Given the description of an element on the screen output the (x, y) to click on. 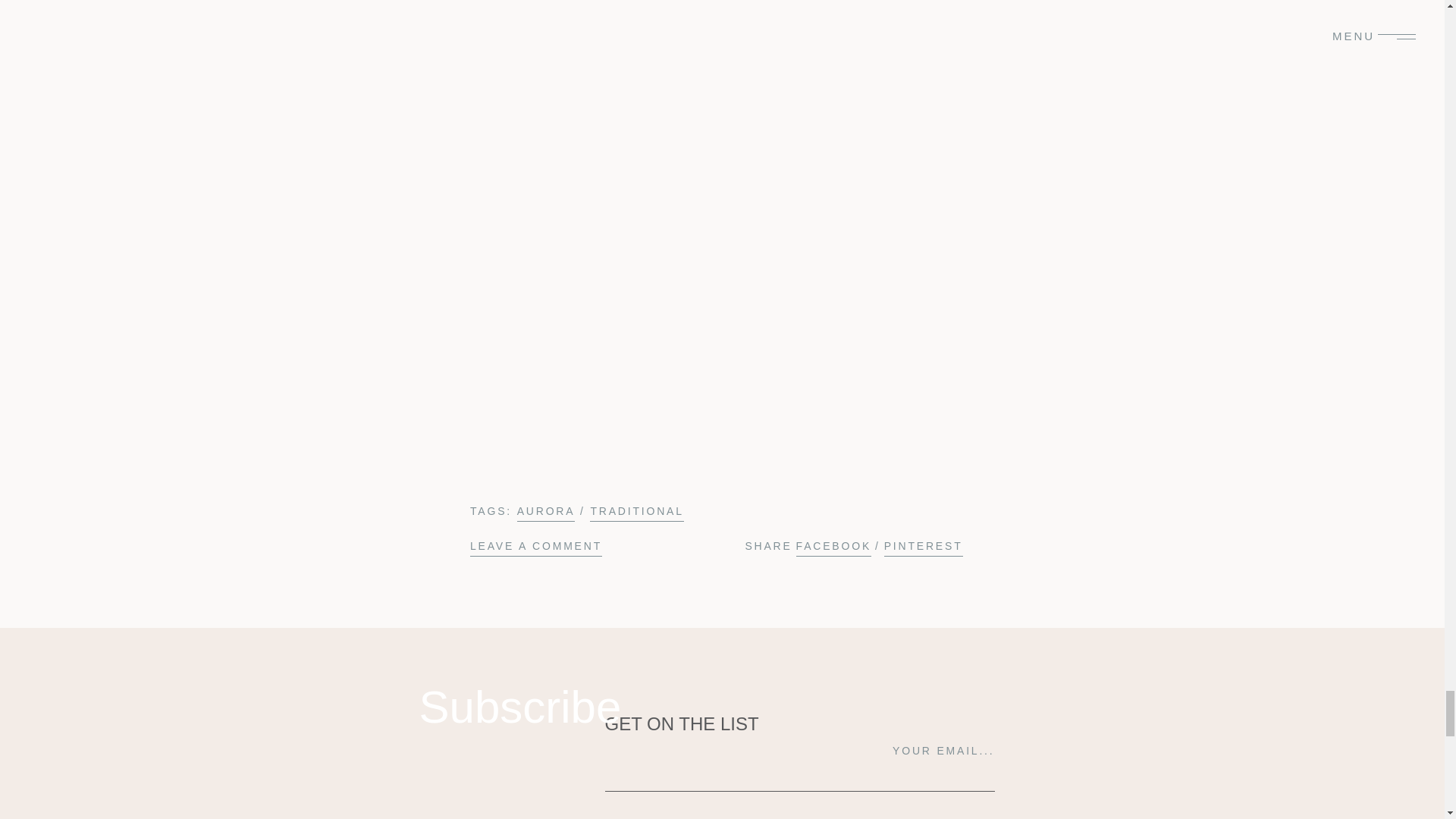
Sign Up (633, 816)
TRADITIONAL (635, 511)
PINTEREST (922, 546)
FACEBOOK (833, 546)
Sign Up (633, 816)
AURORA (545, 511)
